Given the description of an element on the screen output the (x, y) to click on. 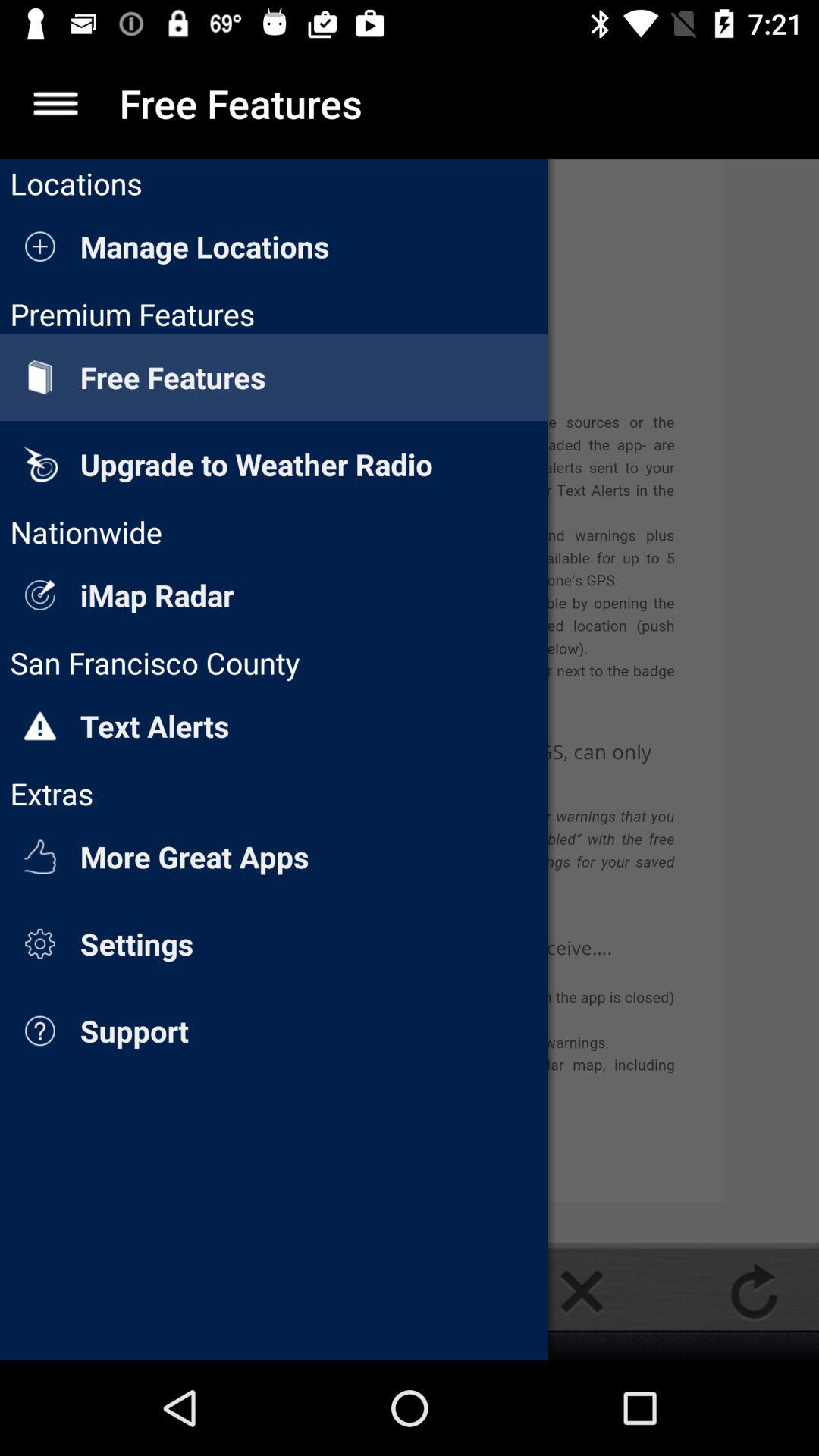
settings bar option (55, 103)
